Given the description of an element on the screen output the (x, y) to click on. 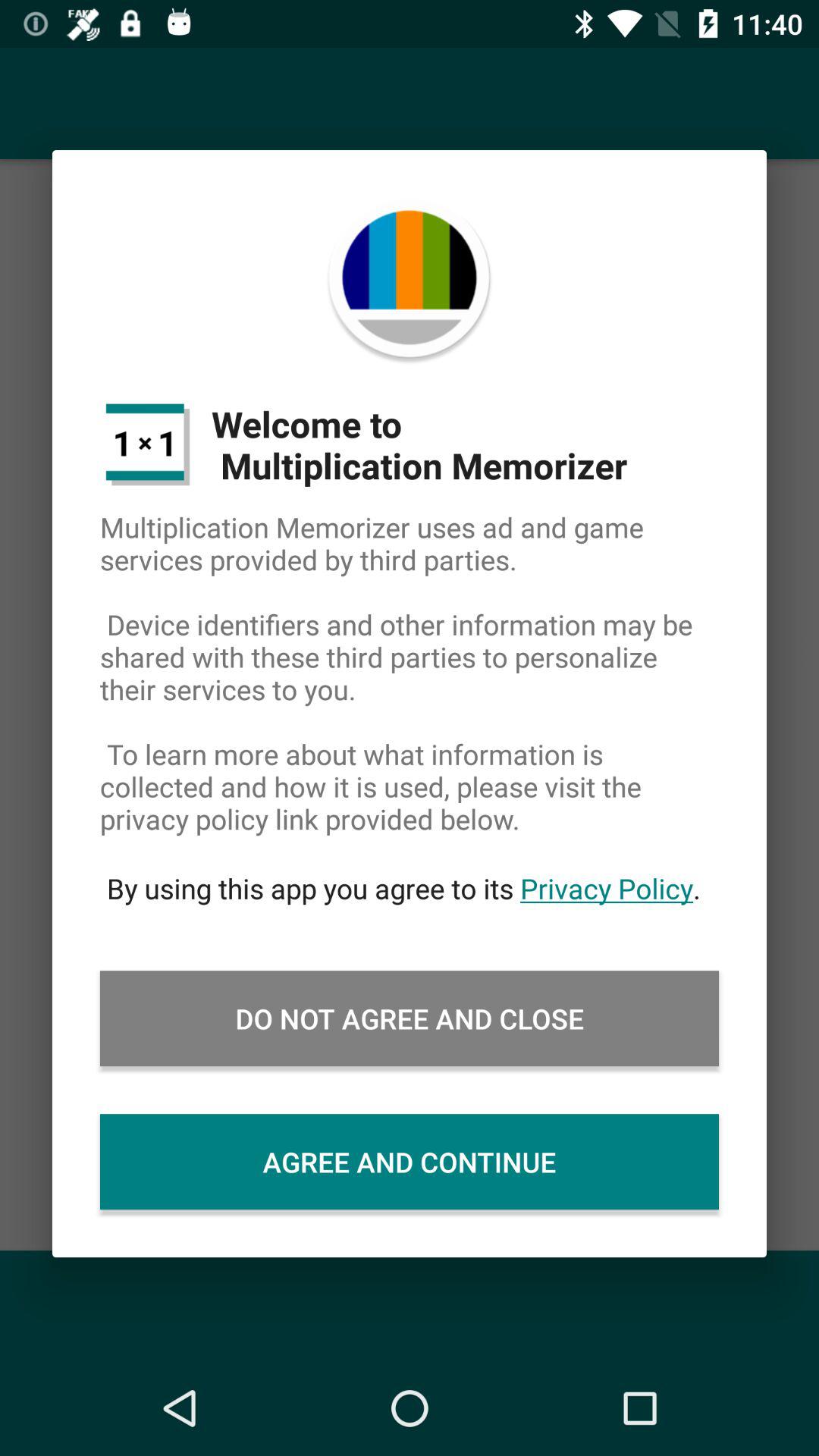
swipe until by using this icon (409, 888)
